Given the description of an element on the screen output the (x, y) to click on. 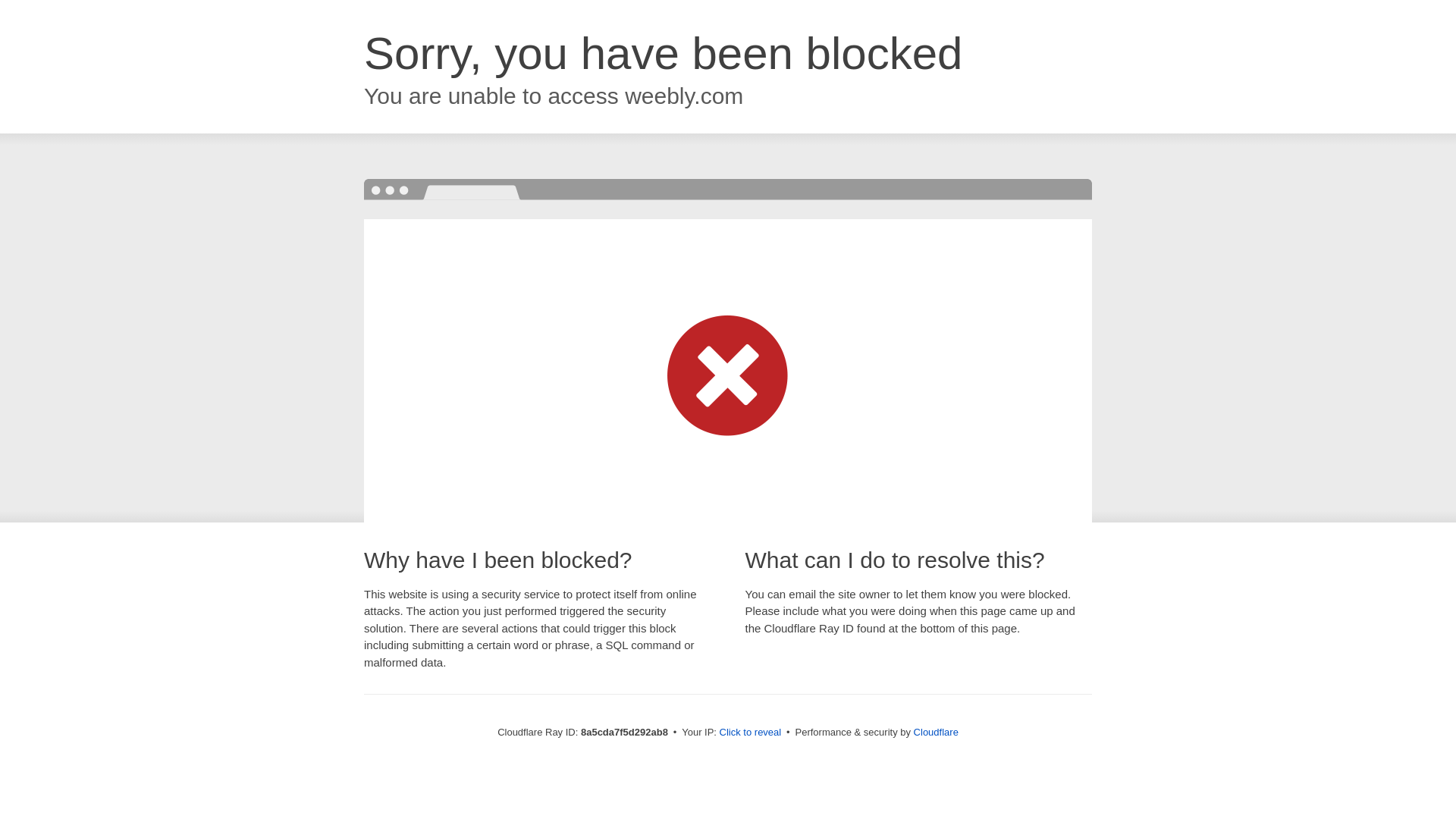
Click to reveal (750, 732)
Cloudflare (936, 731)
